Given the description of an element on the screen output the (x, y) to click on. 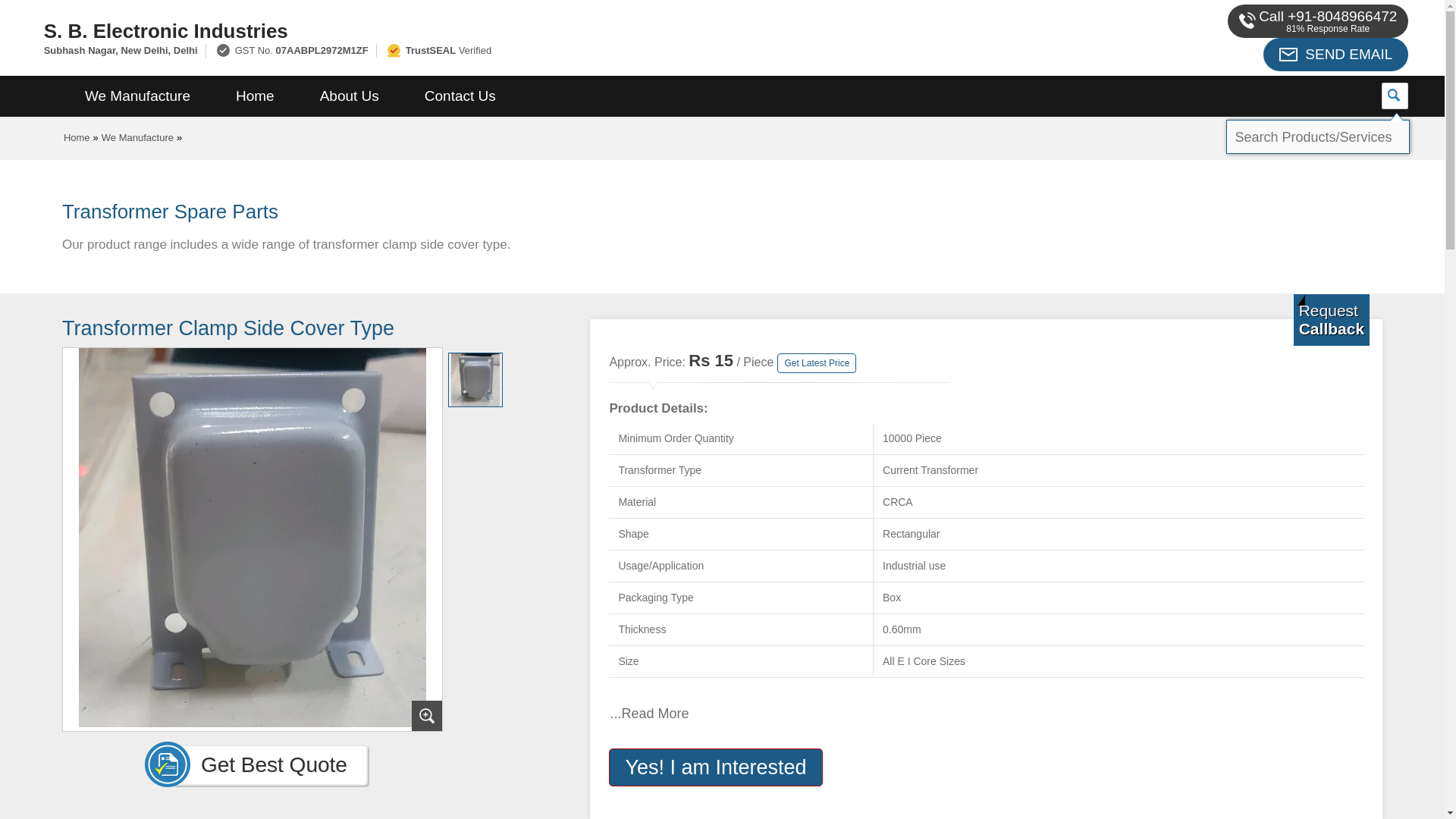
About Us (349, 96)
Home (254, 96)
S. B. Electronic Industries (480, 31)
Contact Us (459, 96)
We Manufacture (137, 137)
Home (77, 137)
We Manufacture (137, 96)
Get a Call from us (1332, 319)
